Given the description of an element on the screen output the (x, y) to click on. 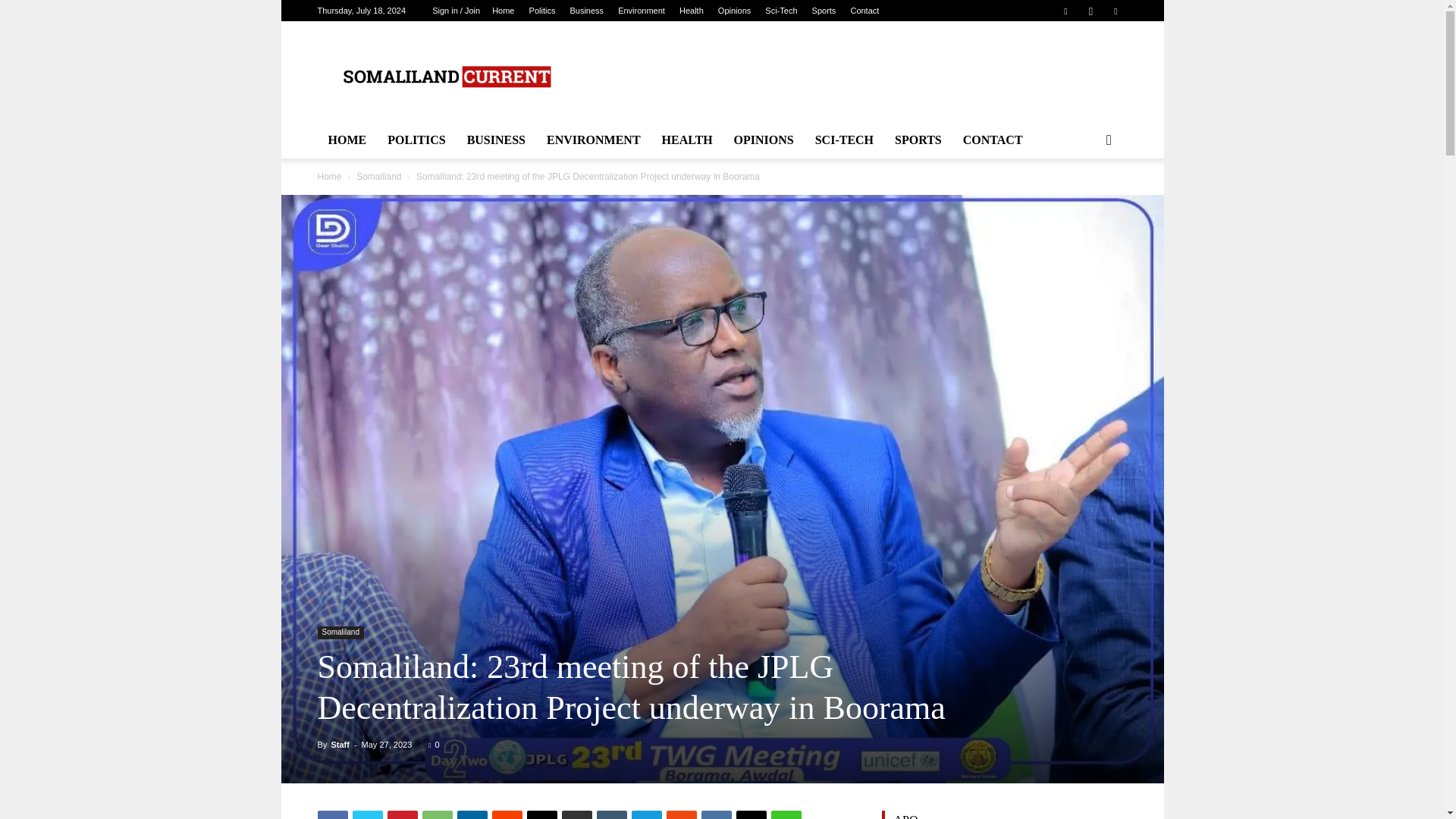
Pinterest (401, 814)
somalilandcurrent.com logo (445, 76)
Twitter (1114, 10)
WhatsApp (436, 814)
View all posts in Somaliland (378, 176)
Twitter (366, 814)
Facebook (1065, 10)
Facebook (332, 814)
Politics (542, 10)
Instagram (1090, 10)
Home (502, 10)
